Given the description of an element on the screen output the (x, y) to click on. 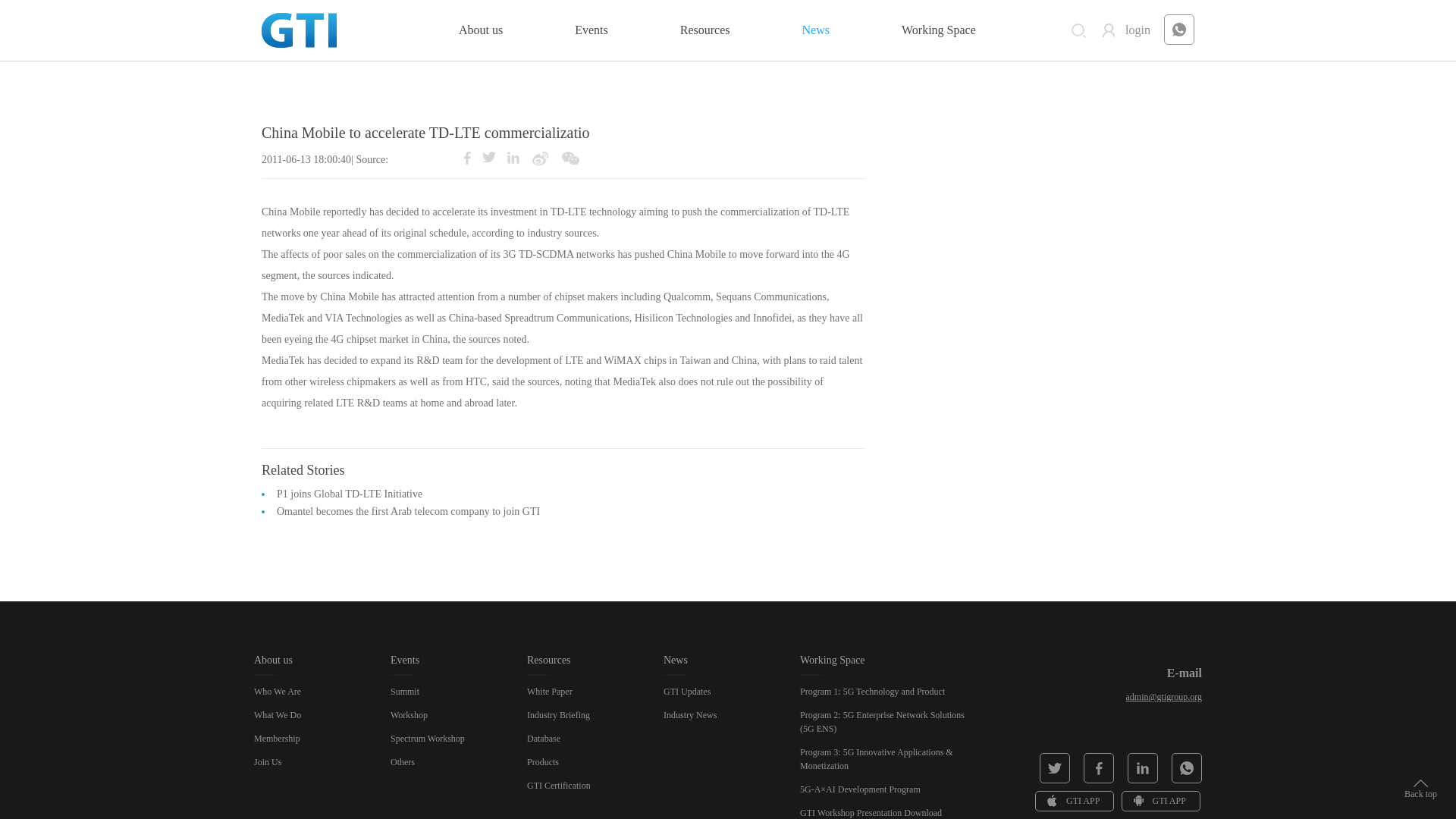
Omantel becomes the first Arab telecom company to join GTI (408, 511)
P1 joins Global TD-LTE Initiative (349, 493)
Working Space (938, 30)
